Given the description of an element on the screen output the (x, y) to click on. 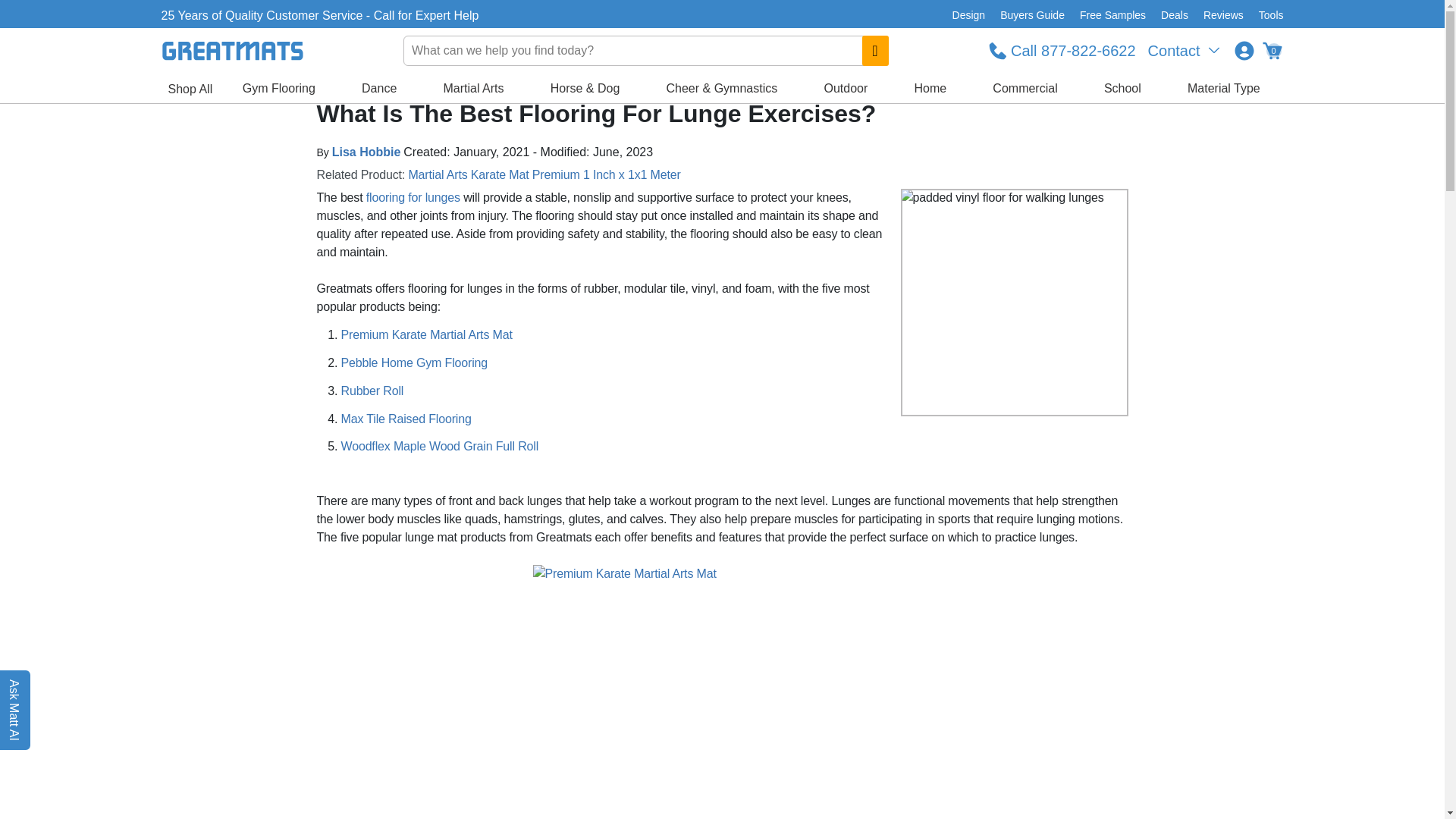
Shop All (189, 89)
Buyers Guide (1031, 15)
Contact (1184, 50)
Reviews (1222, 15)
Call 877-822-6622 (1061, 50)
Greatmats (300, 82)
Deals (1174, 15)
Tools (1267, 15)
0 (1271, 50)
Design (968, 15)
